Given the description of an element on the screen output the (x, y) to click on. 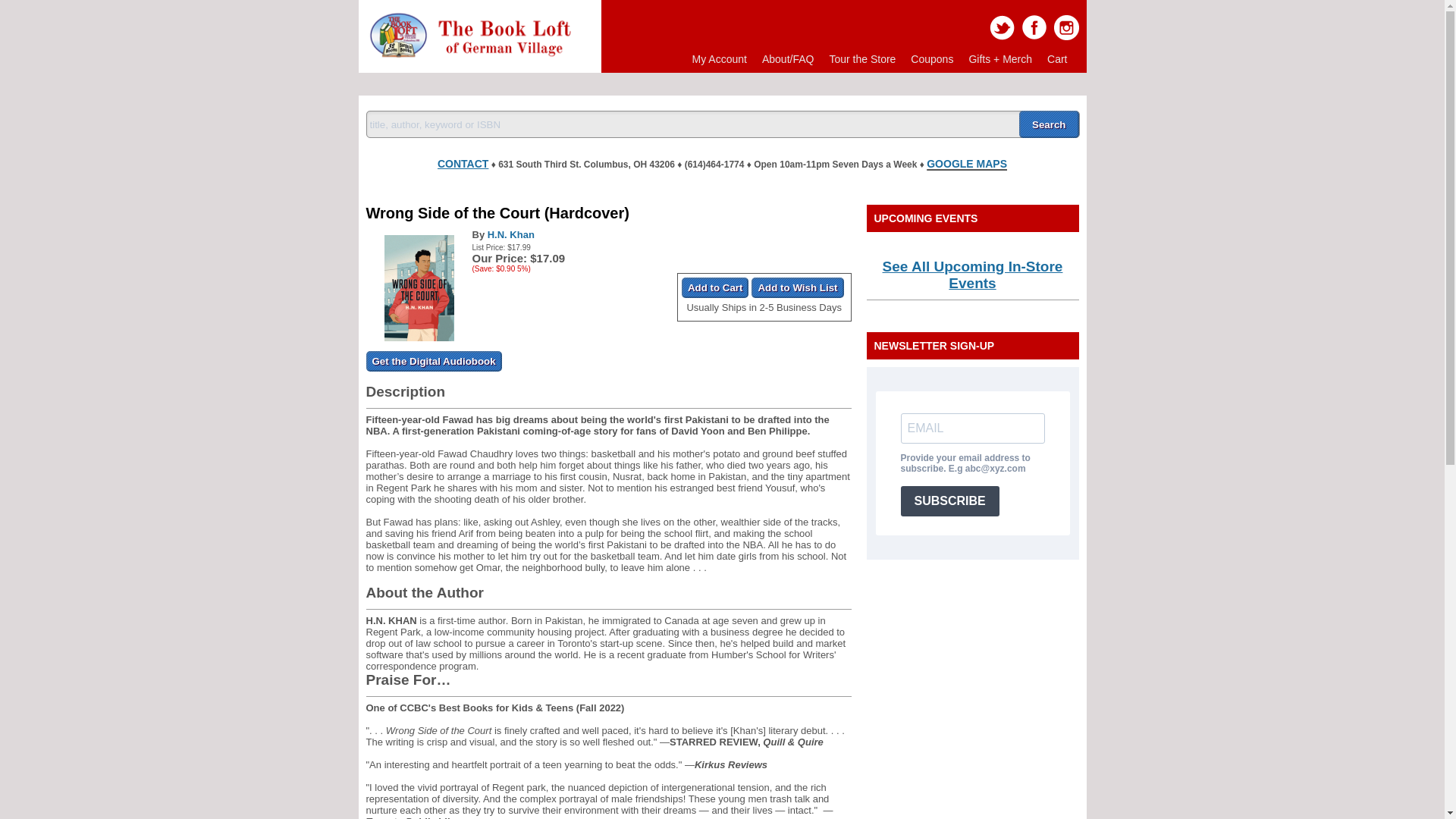
H.N. Khan (510, 234)
Get the Digital Audiobook (432, 361)
Search (1048, 124)
CONTACT (462, 161)
Search (1048, 124)
Coupons (931, 58)
Add to Cart (715, 287)
GOOGLE MAPS (966, 163)
My Account (719, 58)
